Given the description of an element on the screen output the (x, y) to click on. 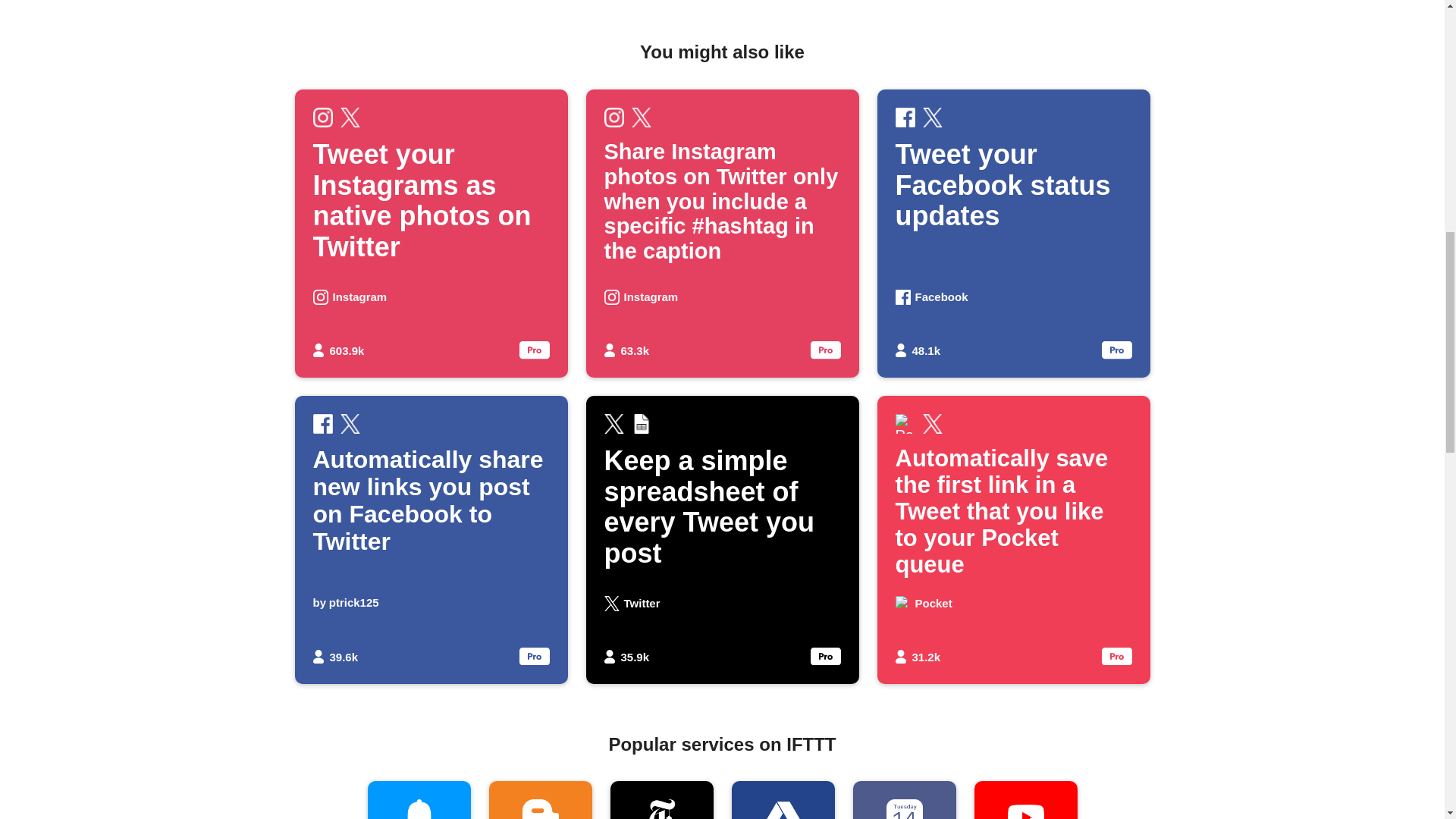
Blogger (539, 800)
YouTube (1025, 800)
Google Drive (1013, 233)
iOS Calendar (782, 800)
The New York Times (903, 800)
